Given the description of an element on the screen output the (x, y) to click on. 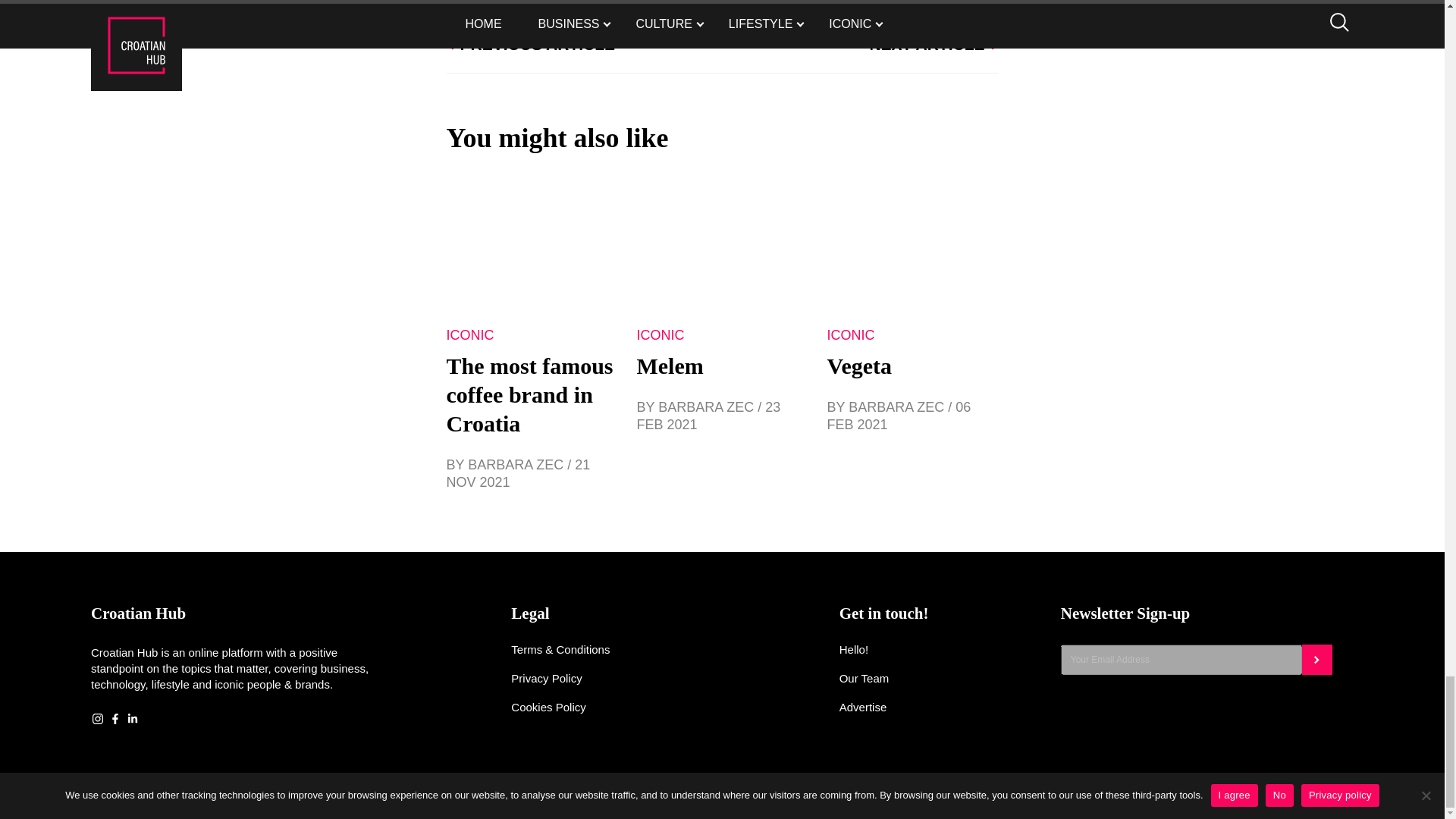
Send (1316, 659)
